Given the description of an element on the screen output the (x, y) to click on. 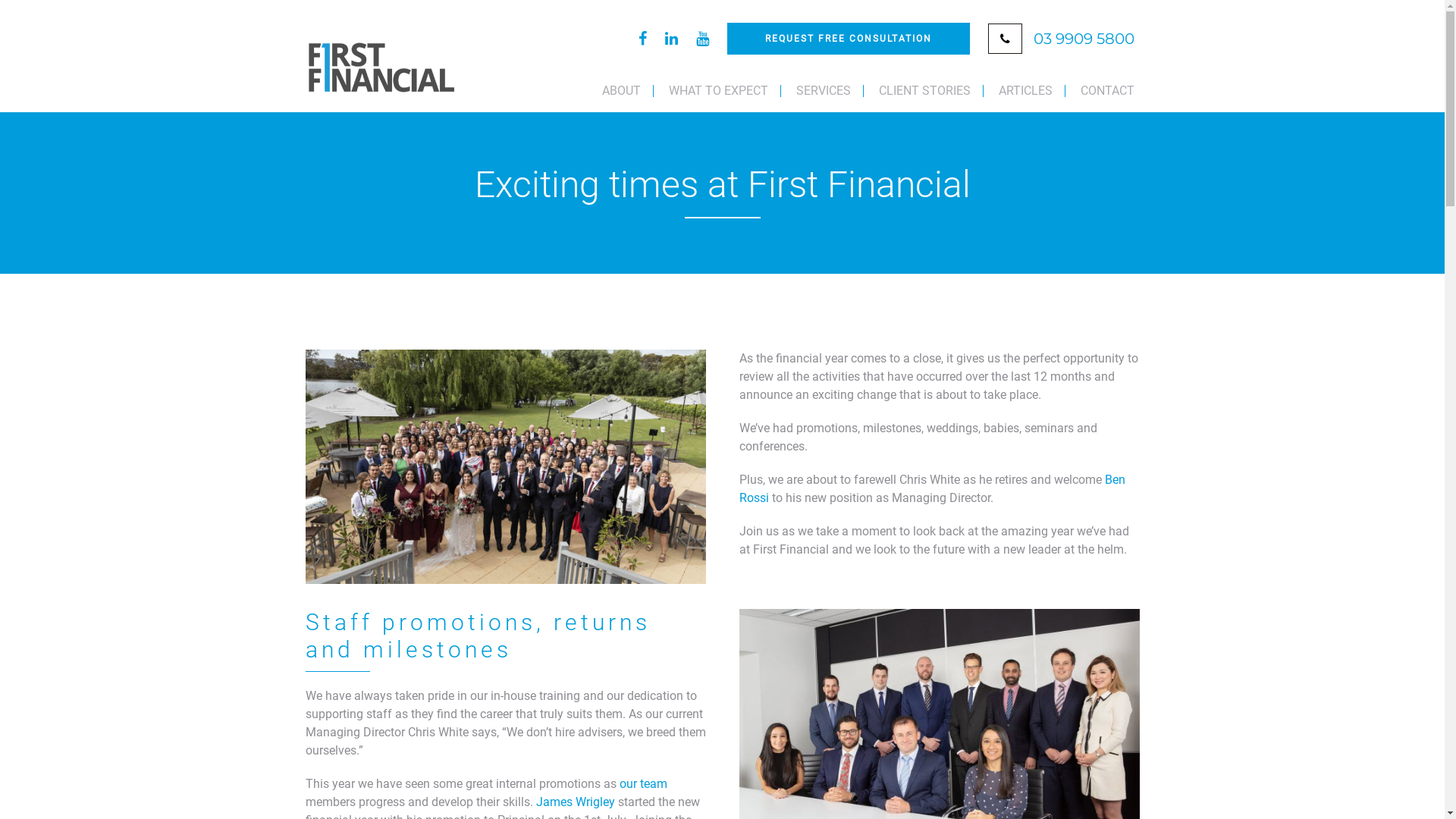
ABOUT Element type: text (621, 90)
REQUEST FREE CONSULTATION Element type: text (847, 38)
James Wrigley Element type: text (574, 801)
03 9909 5800 Element type: text (1078, 37)
CLIENT STORIES Element type: text (924, 90)
CONTACT Element type: text (1100, 90)
ARTICLES Element type: text (1024, 90)
SERVICES Element type: text (823, 90)
Ben Rossi Element type: text (931, 488)
WHAT TO EXPECT Element type: text (718, 90)
our team Element type: text (642, 783)
